Given the description of an element on the screen output the (x, y) to click on. 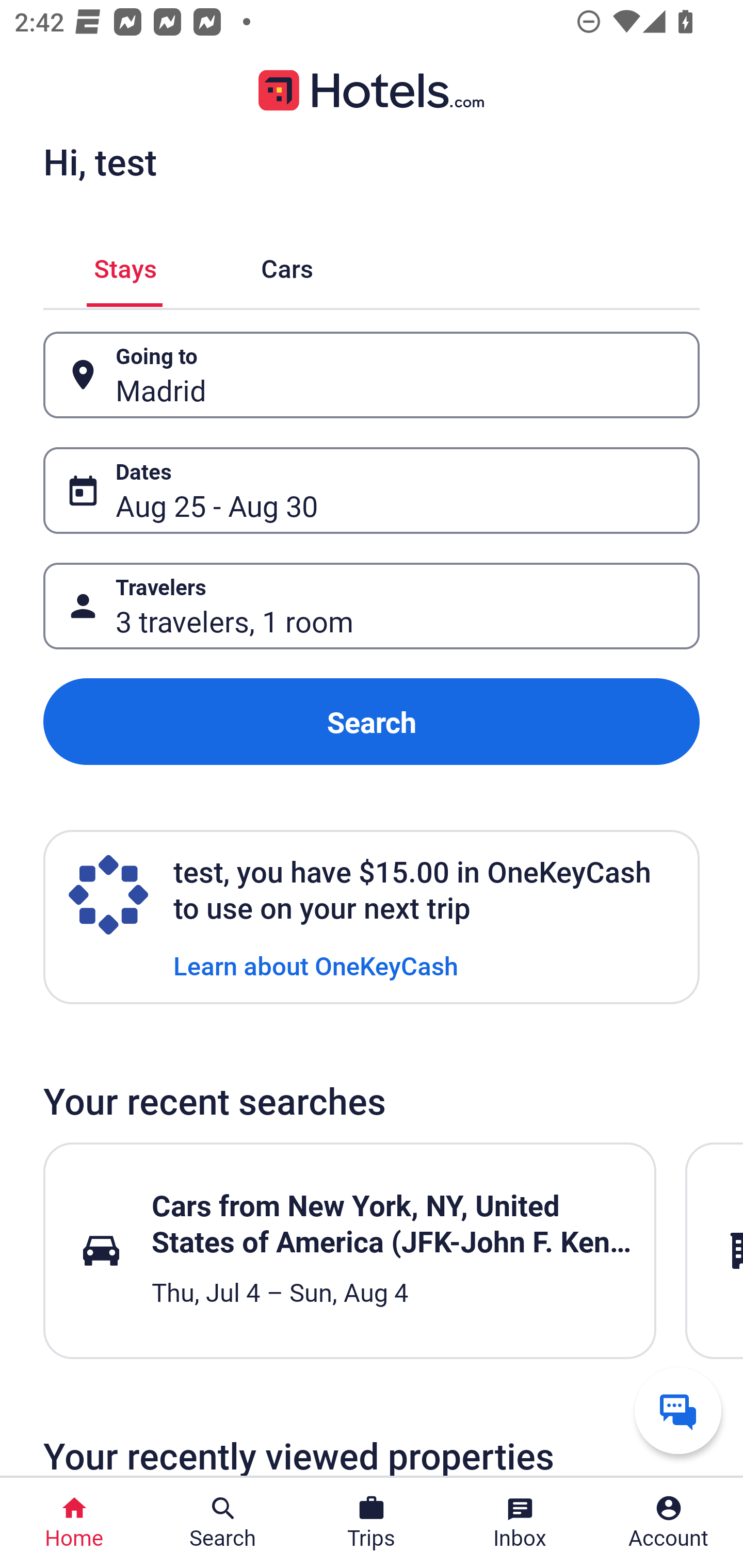
Hi, test (99, 161)
Cars (286, 265)
Going to Button Madrid (371, 375)
Dates Button Aug 25 - Aug 30 (371, 489)
Travelers Button 3 travelers, 1 room (371, 605)
Search (371, 721)
Learn about OneKeyCash Learn about OneKeyCash Link (315, 964)
Get help from a virtual agent (677, 1410)
Search Search Button (222, 1522)
Trips Trips Button (371, 1522)
Inbox Inbox Button (519, 1522)
Account Profile. Button (668, 1522)
